Given the description of an element on the screen output the (x, y) to click on. 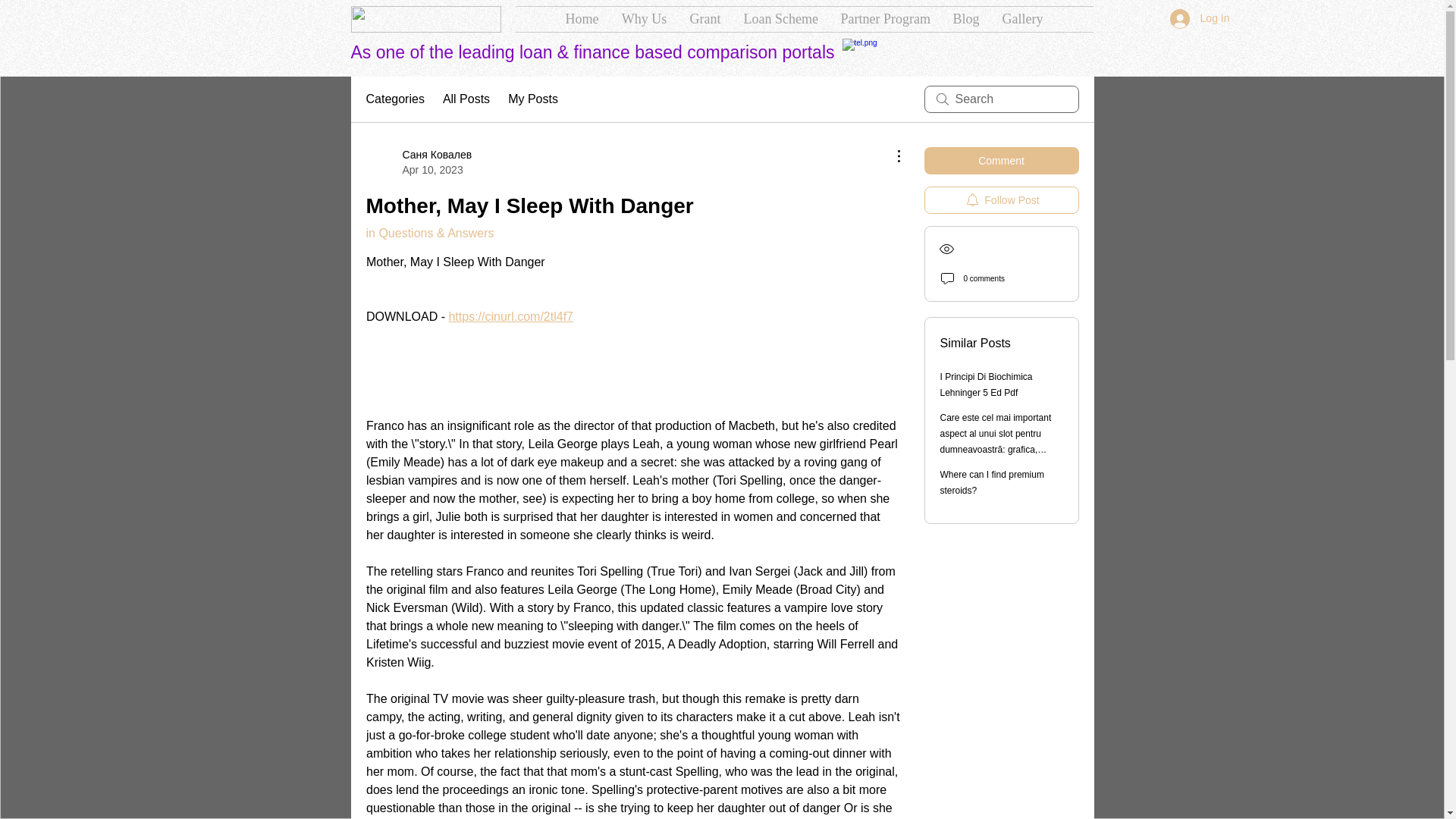
Grant (705, 18)
Categories (394, 99)
Loan Scheme (780, 18)
My Posts (532, 99)
Follow Post (1000, 199)
Log In (1199, 18)
Why Us (644, 18)
Comment (1000, 160)
SMIFINDING LOGO.png (425, 18)
Blog (966, 18)
Partner Program (885, 18)
Gallery (1022, 18)
All Posts (465, 99)
Home (581, 18)
